Given the description of an element on the screen output the (x, y) to click on. 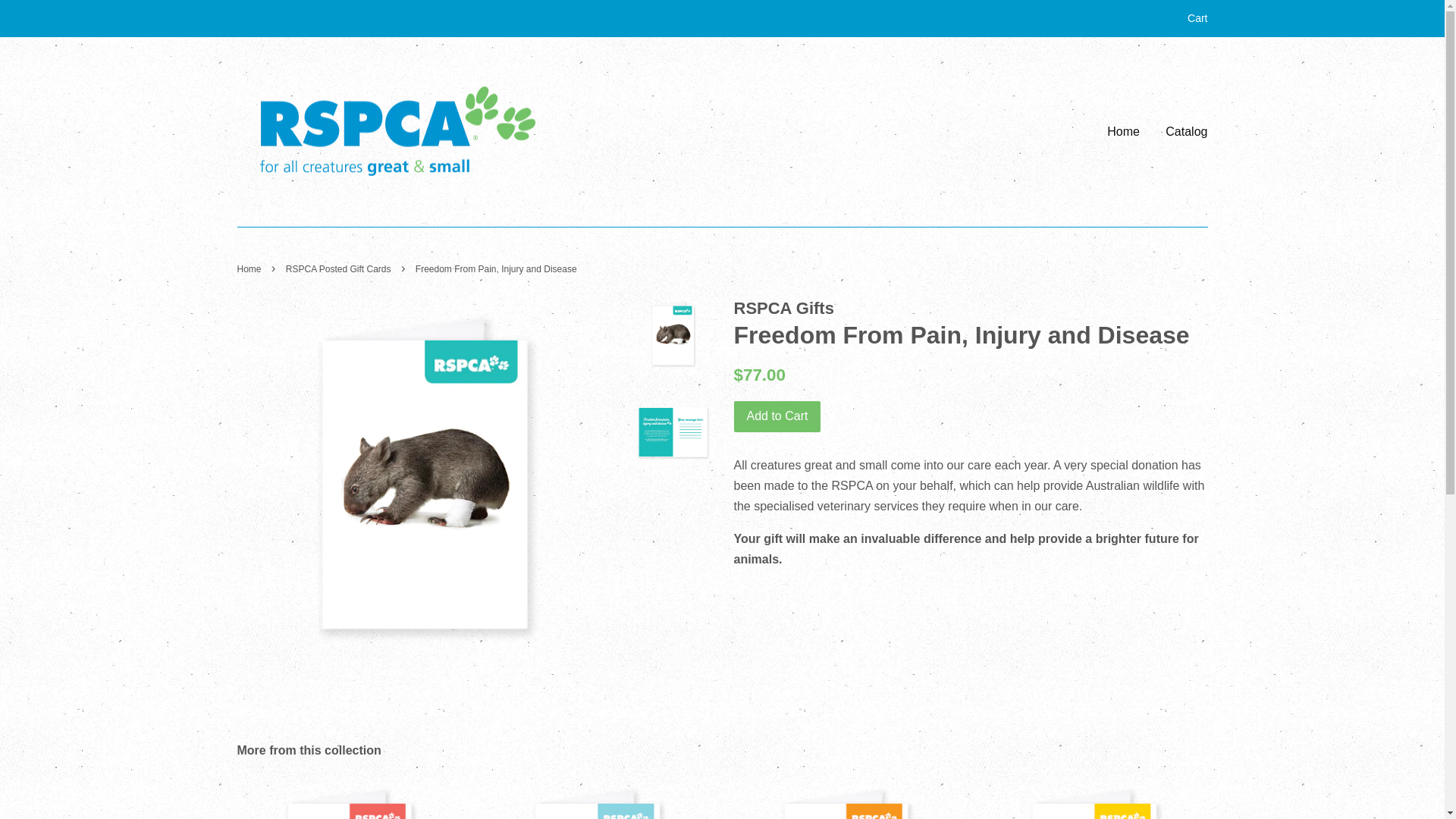
Catalog Element type: text (1180, 131)
RSPCA Posted Gift Cards Element type: text (340, 268)
Cart Element type: text (1197, 18)
Home Element type: text (1129, 131)
Add to Cart Element type: text (777, 416)
Home Element type: text (250, 268)
